Given the description of an element on the screen output the (x, y) to click on. 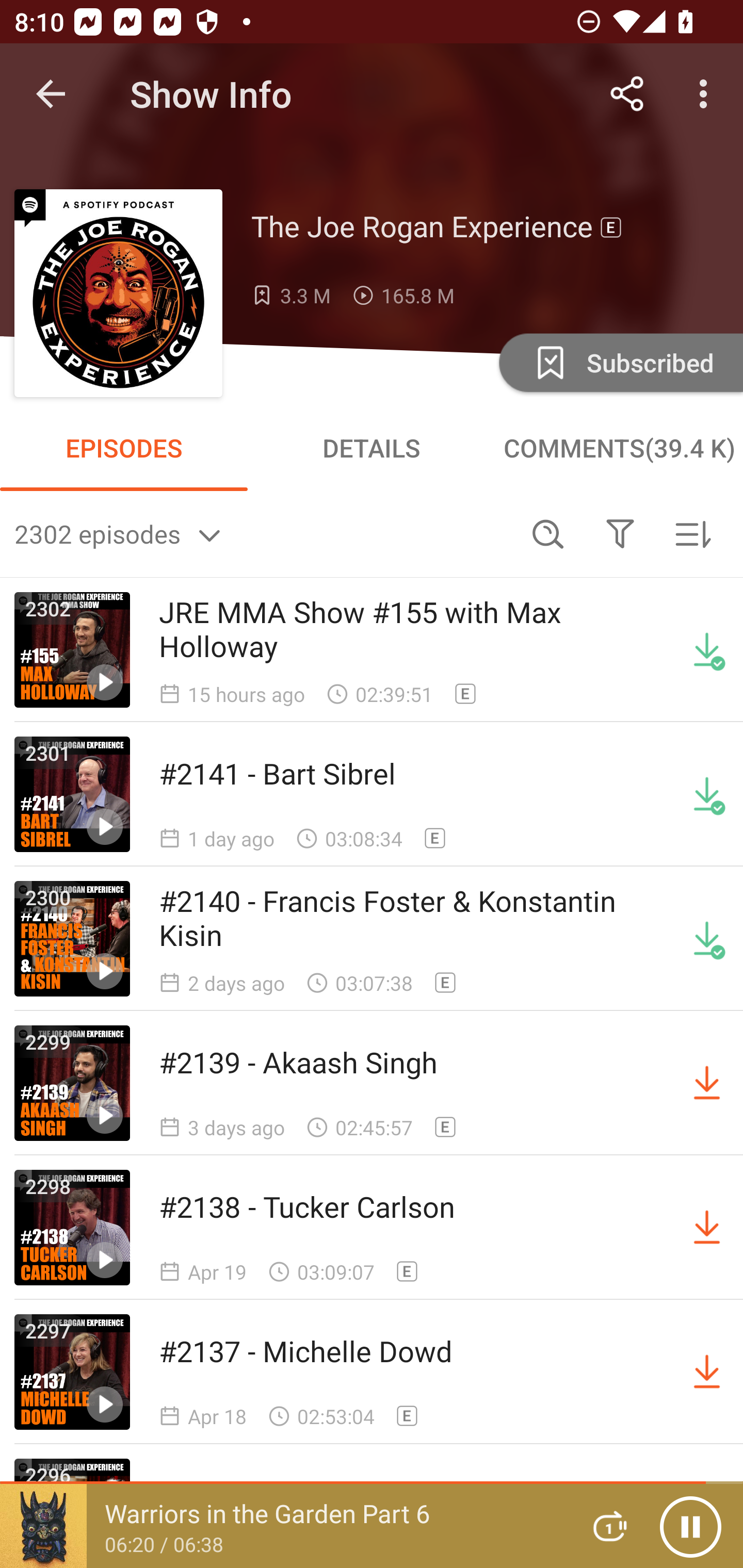
Navigate up (50, 93)
Share (626, 93)
More options (706, 93)
Unsubscribe Subscribed (619, 361)
EPISODES (123, 447)
DETAILS (371, 447)
COMMENTS(39.4 K) (619, 447)
2302 episodes  (262, 533)
 Search (547, 533)
 (619, 533)
 Sorted by newest first (692, 533)
Downloaded (706, 649)
Downloaded (706, 793)
